Given the description of an element on the screen output the (x, y) to click on. 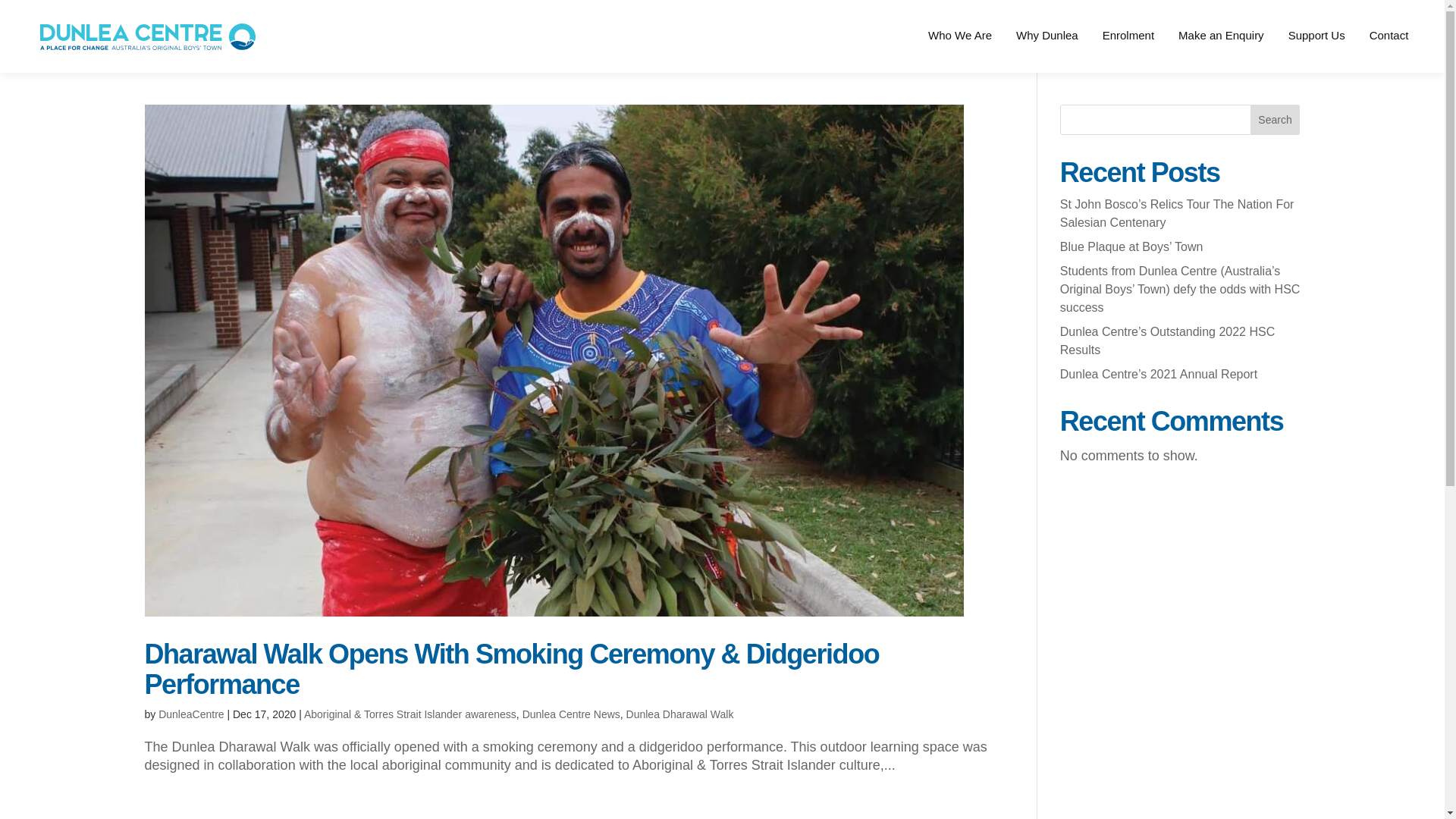
Who We Are Element type: text (959, 51)
Why Dunlea Element type: text (1047, 51)
Support Us Element type: text (1316, 51)
Contact Element type: text (1388, 51)
Enrolment Element type: text (1128, 51)
DunleaCentre Element type: text (190, 714)
Dunlea Dharawal Walk Element type: text (680, 714)
Make an Enquiry Element type: text (1221, 51)
Aboriginal & Torres Strait Islander awareness Element type: text (410, 714)
Search Element type: text (1275, 119)
Dunlea Centre News Element type: text (571, 714)
